Given the description of an element on the screen output the (x, y) to click on. 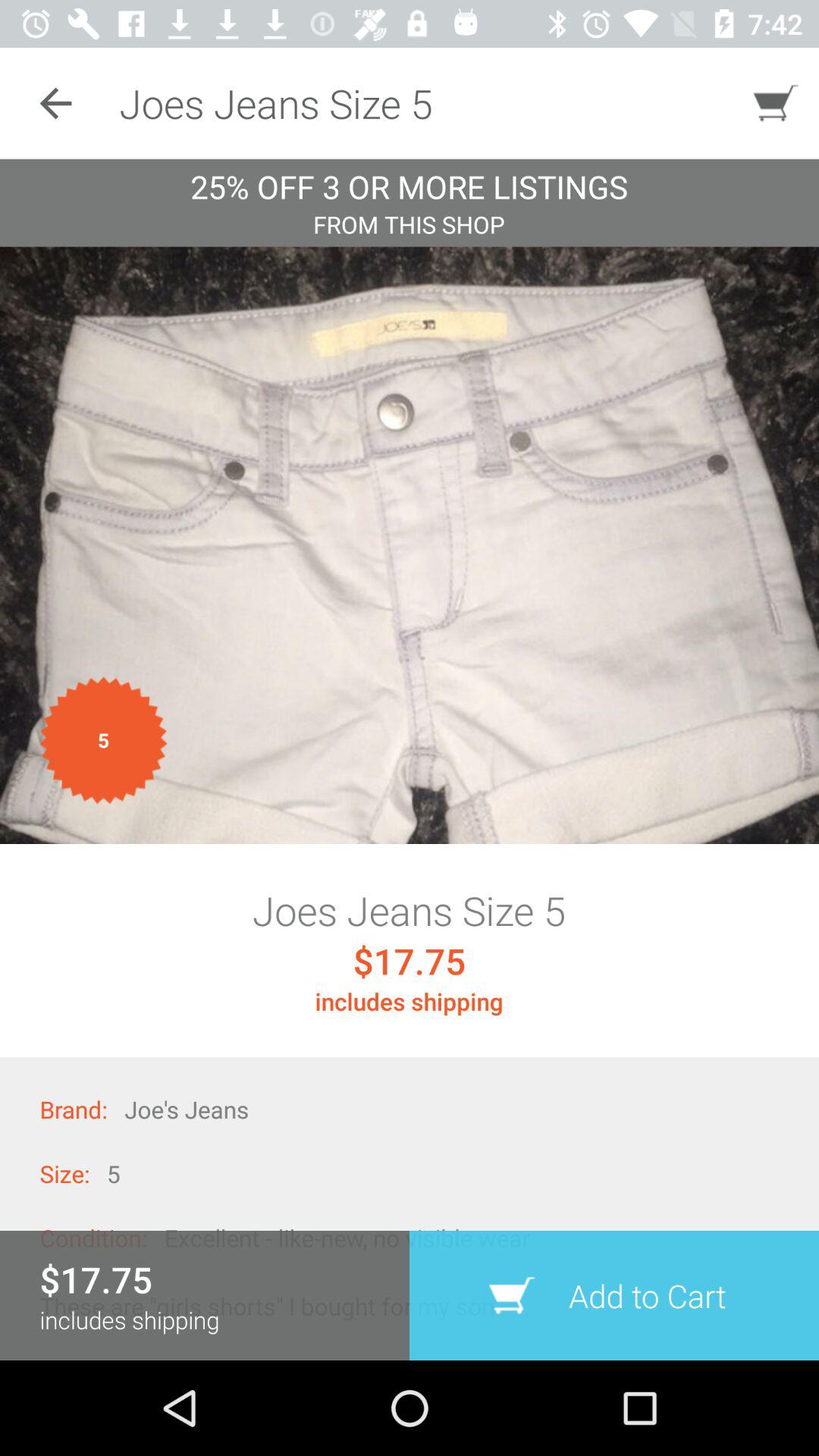
picture see detail (409, 545)
